Given the description of an element on the screen output the (x, y) to click on. 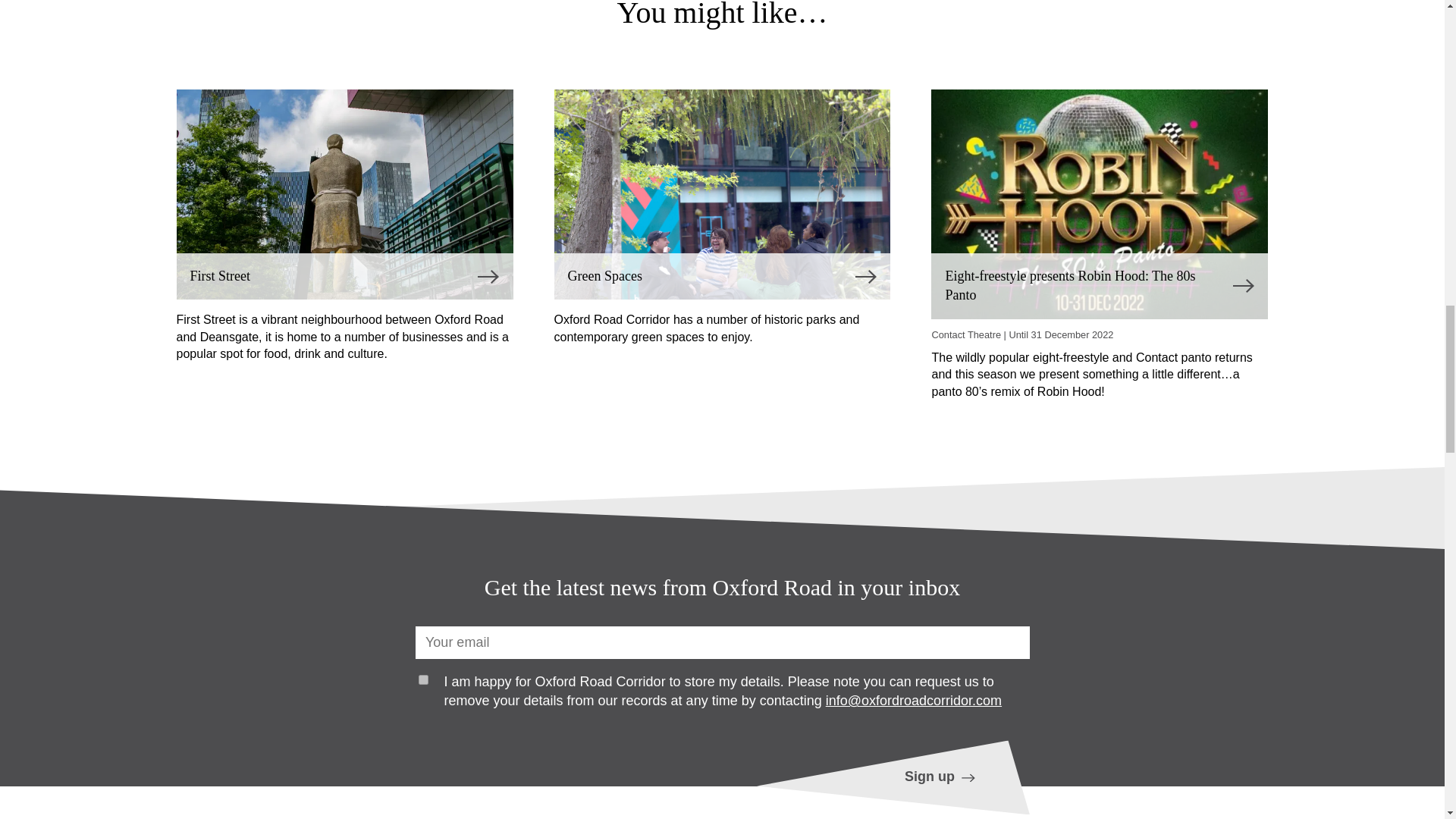
on (423, 679)
